Given the description of an element on the screen output the (x, y) to click on. 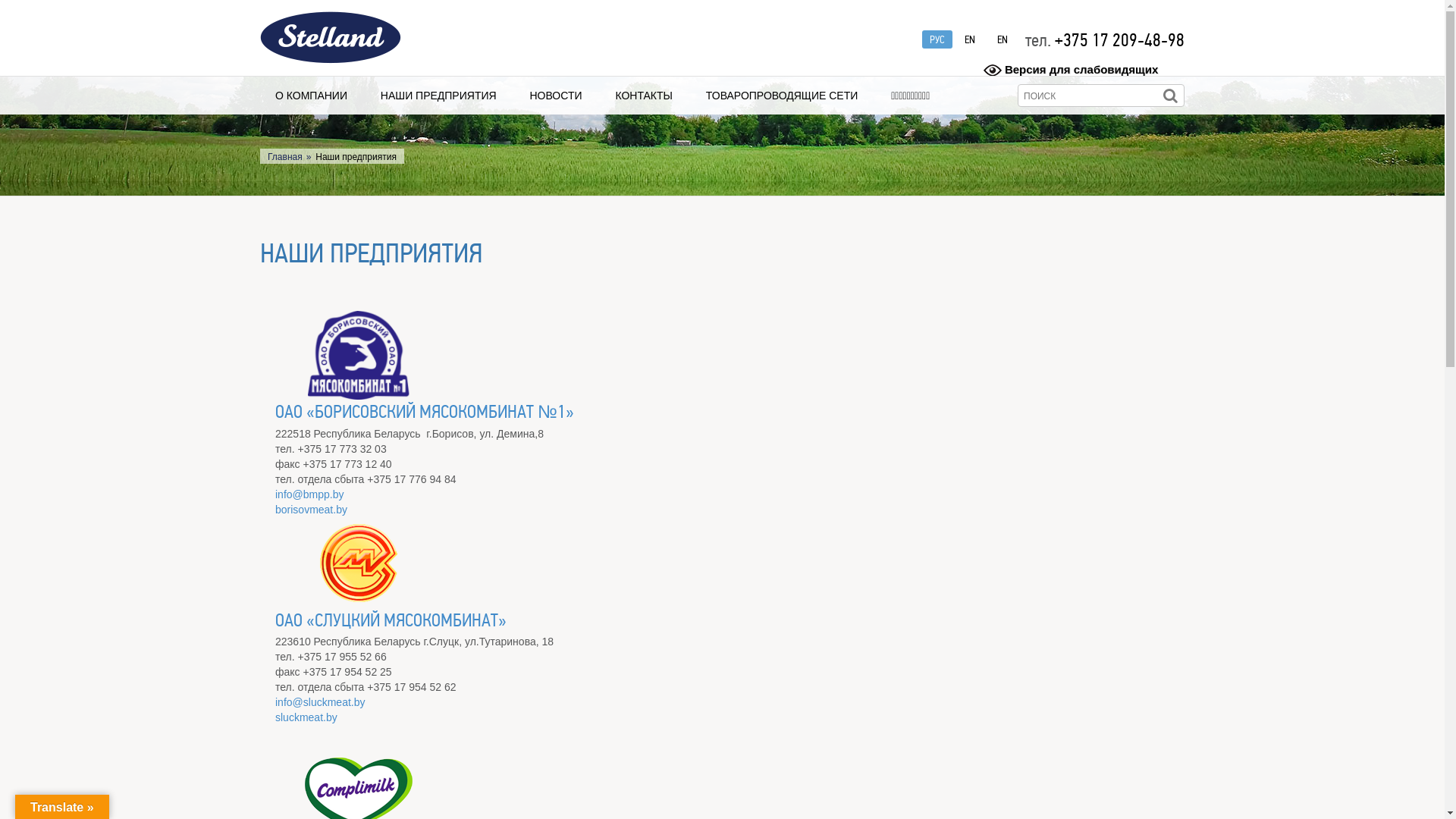
borisovmeat.by Element type: text (311, 509)
EN Element type: text (1002, 39)
info@bmpp.by Element type: text (309, 494)
info@sluckmeat.by Element type: text (319, 701)
sluckmeat.by Element type: text (306, 716)
EN Element type: text (969, 39)
